Given the description of an element on the screen output the (x, y) to click on. 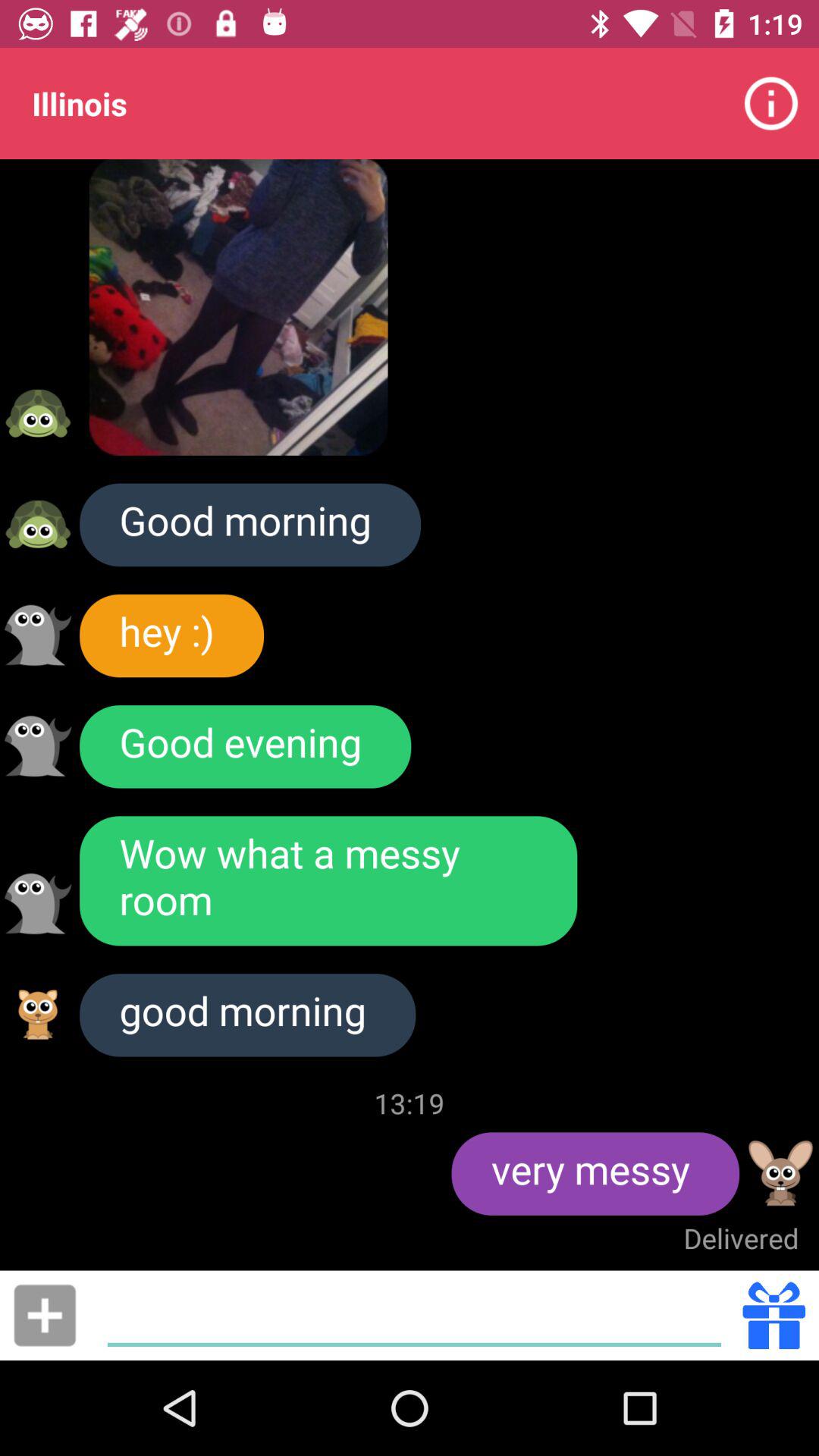
view this emoji (780, 1173)
